Given the description of an element on the screen output the (x, y) to click on. 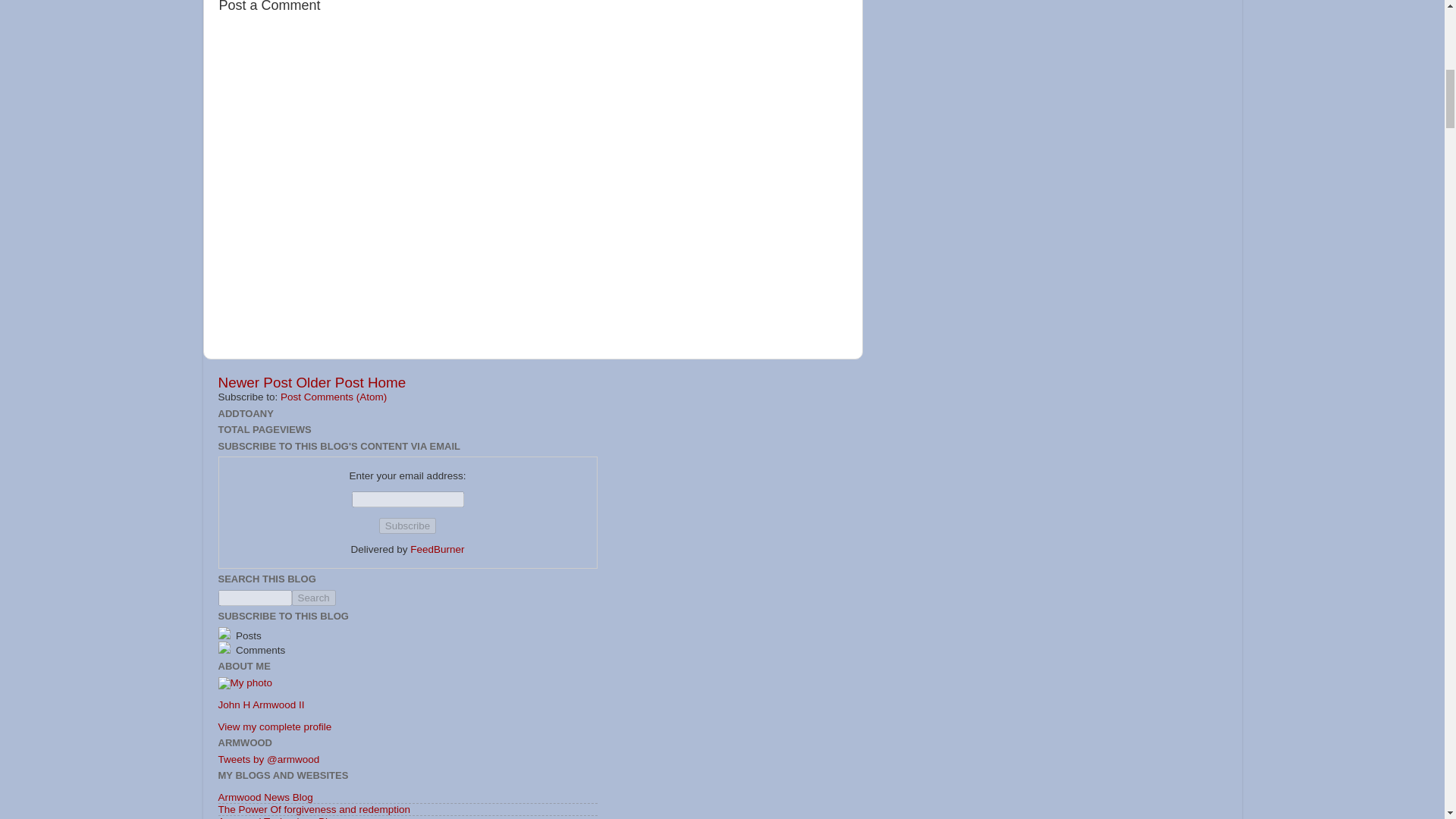
search (312, 597)
FeedBurner (437, 549)
Newer Post (255, 382)
Home (387, 382)
Search (312, 597)
Search (312, 597)
Subscribe (406, 525)
Older Post (328, 382)
search (255, 597)
Search (312, 597)
Older Post (328, 382)
Newer Post (255, 382)
Subscribe (406, 525)
